Given the description of an element on the screen output the (x, y) to click on. 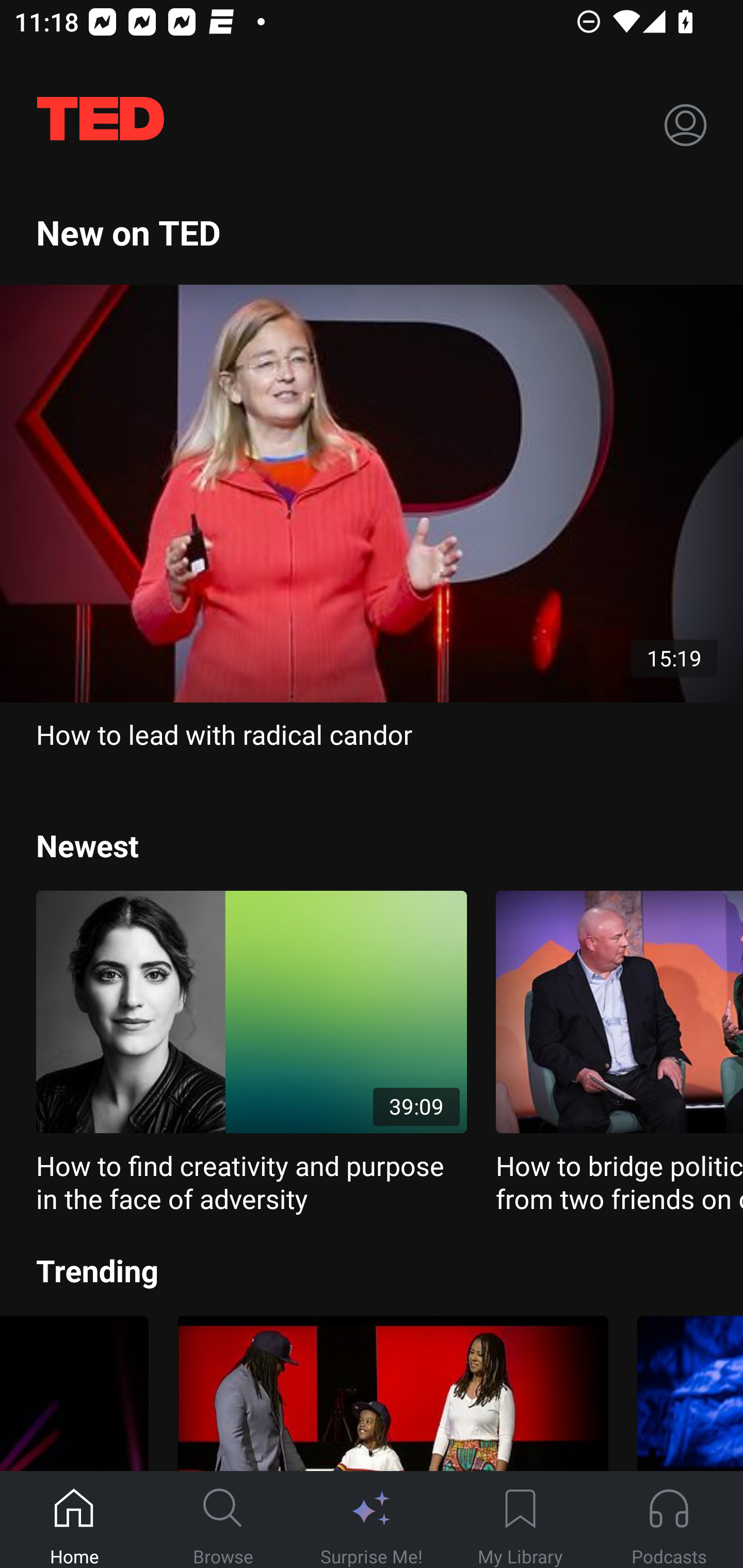
Home (74, 1520)
Browse (222, 1520)
Surprise Me! (371, 1520)
My Library (519, 1520)
Podcasts (668, 1520)
